Given the description of an element on the screen output the (x, y) to click on. 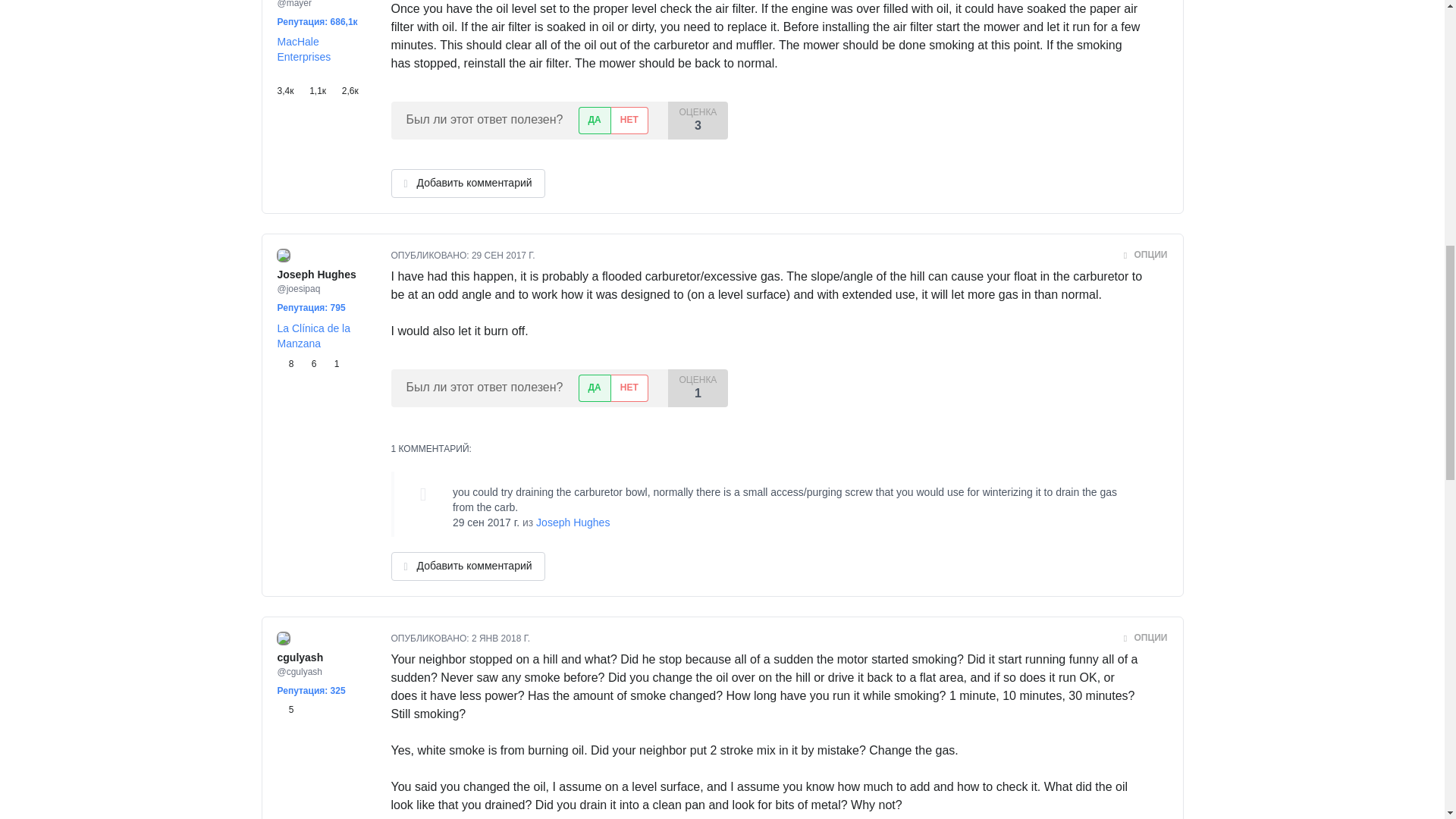
Fri, 29 Sep 2017 08:31:04 -0700 (485, 522)
MacHale Enterprises (304, 49)
Tue, 02 Jan 2018 13:03:06 -0700 (500, 638)
Fri, 29 Sep 2017 08:29:52 -0700 (503, 255)
